Given the description of an element on the screen output the (x, y) to click on. 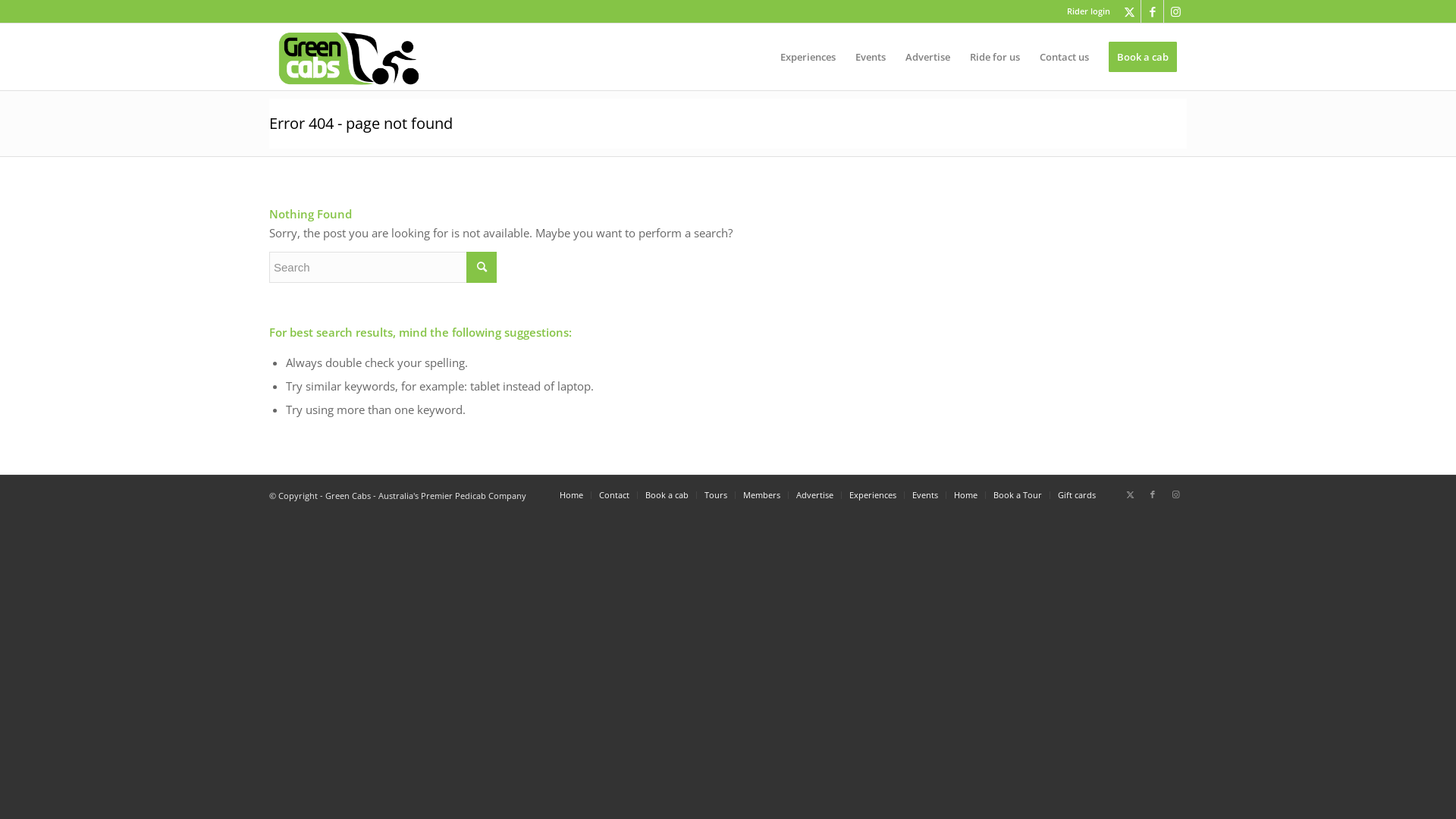
Home Element type: text (571, 493)
Gift cards Element type: text (1076, 493)
Contact Element type: text (614, 493)
Book a cab Element type: text (1142, 56)
Members Element type: text (761, 493)
Advertise Element type: text (814, 493)
Contact us Element type: text (1063, 56)
Ride for us Element type: text (994, 56)
Experiences Element type: text (807, 56)
Twitter Element type: hover (1129, 493)
Instagram Element type: hover (1175, 11)
Facebook Element type: hover (1152, 11)
Rider login Element type: text (1088, 10)
Advertise Element type: text (927, 56)
Events Element type: text (870, 56)
Facebook Element type: hover (1152, 493)
Home Element type: text (965, 493)
Tours Element type: text (715, 493)
Book a cab Element type: text (666, 493)
Book a Tour Element type: text (1017, 493)
Events Element type: text (925, 493)
Twitter Element type: hover (1129, 11)
Instagram Element type: hover (1175, 493)
Experiences Element type: text (872, 493)
